Given the description of an element on the screen output the (x, y) to click on. 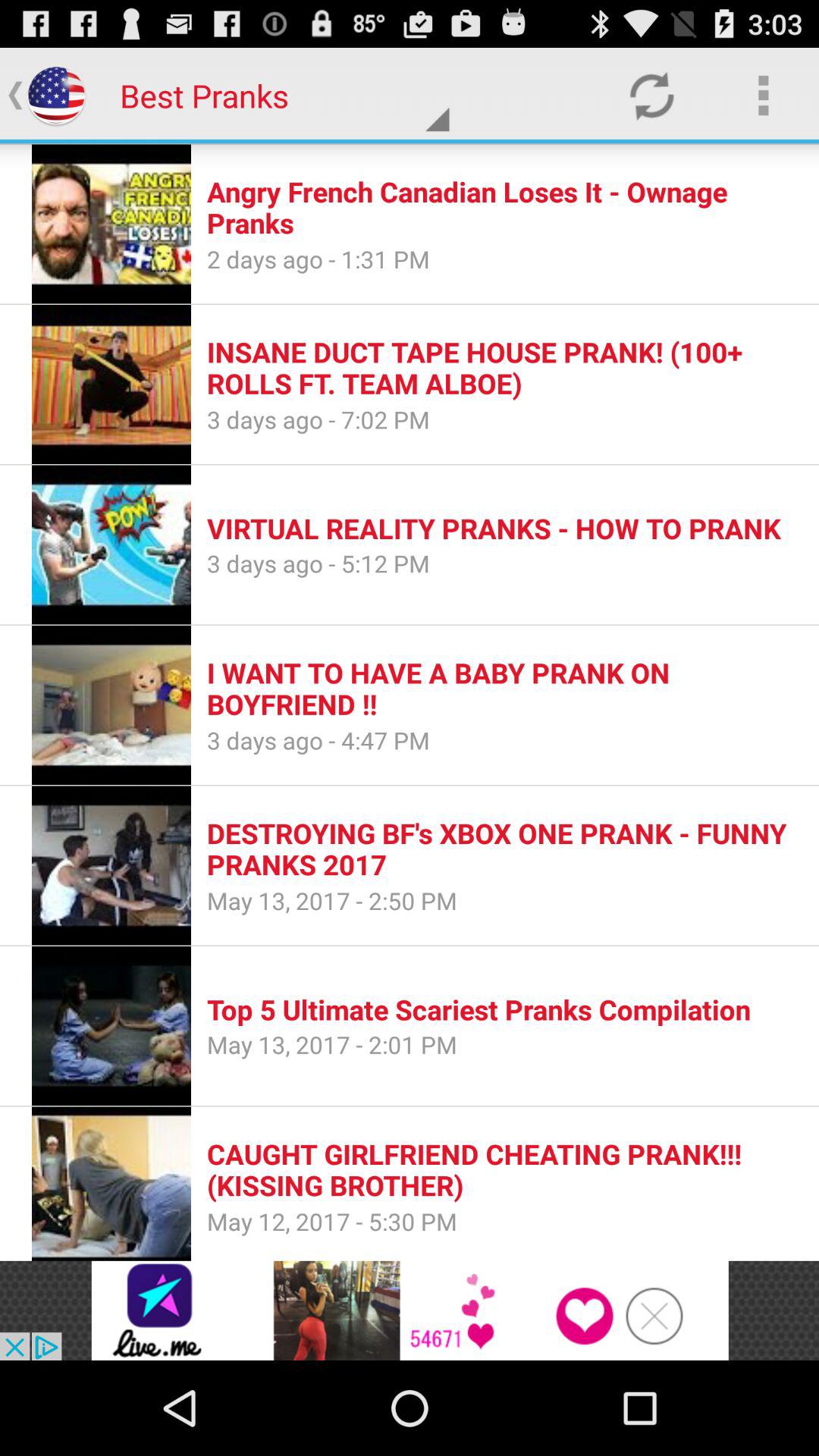
advertisement from outside source (409, 1310)
